Given the description of an element on the screen output the (x, y) to click on. 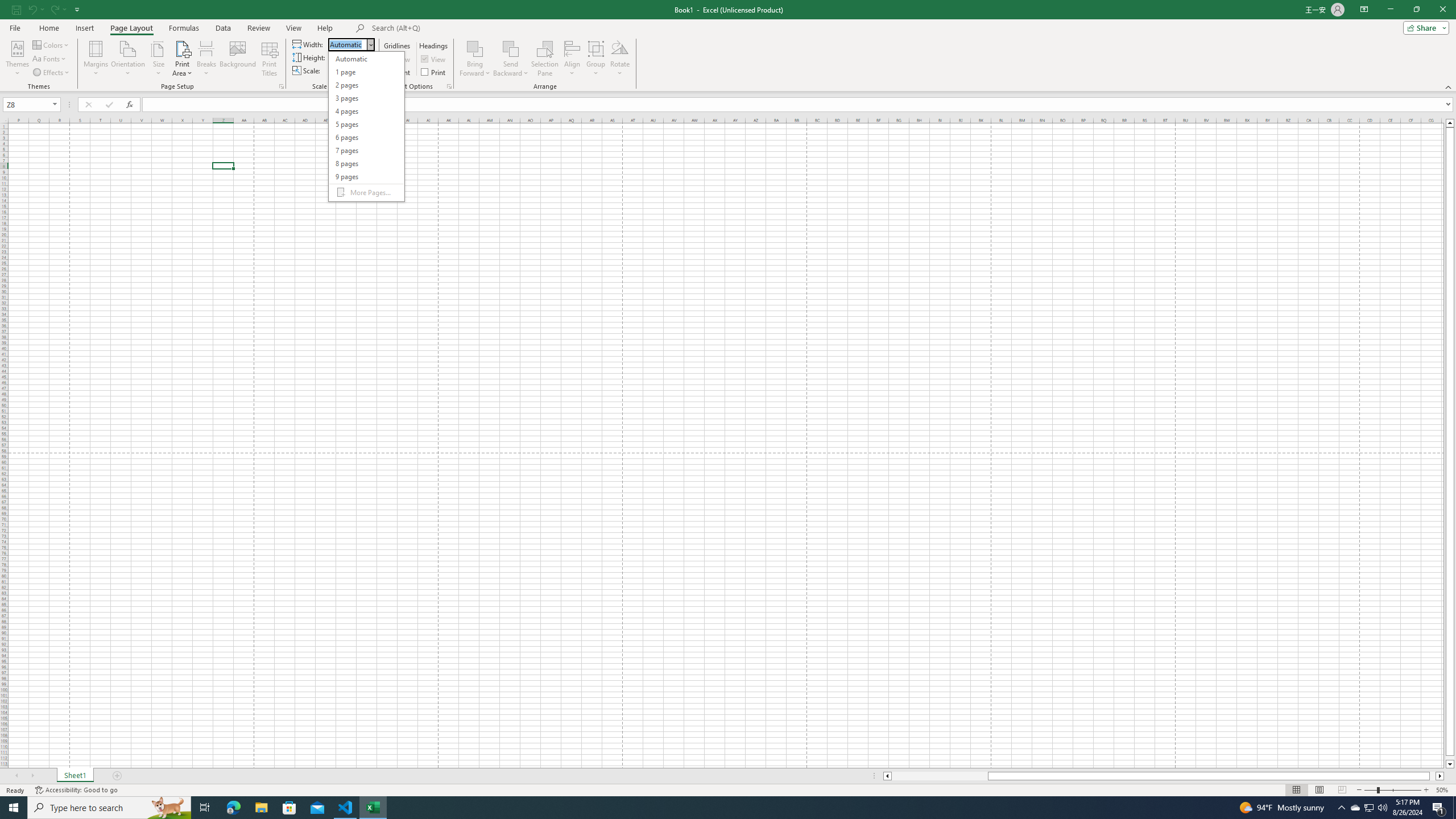
Page down (1449, 757)
Automatic (366, 58)
Normal (1296, 790)
Zoom (1392, 790)
Page right (1432, 775)
File Tab (15, 27)
1 page (366, 71)
Column left (886, 775)
Undo (35, 9)
Group (595, 58)
Add Sheet (117, 775)
Home (48, 28)
Insert (83, 28)
Undo (31, 9)
